Given the description of an element on the screen output the (x, y) to click on. 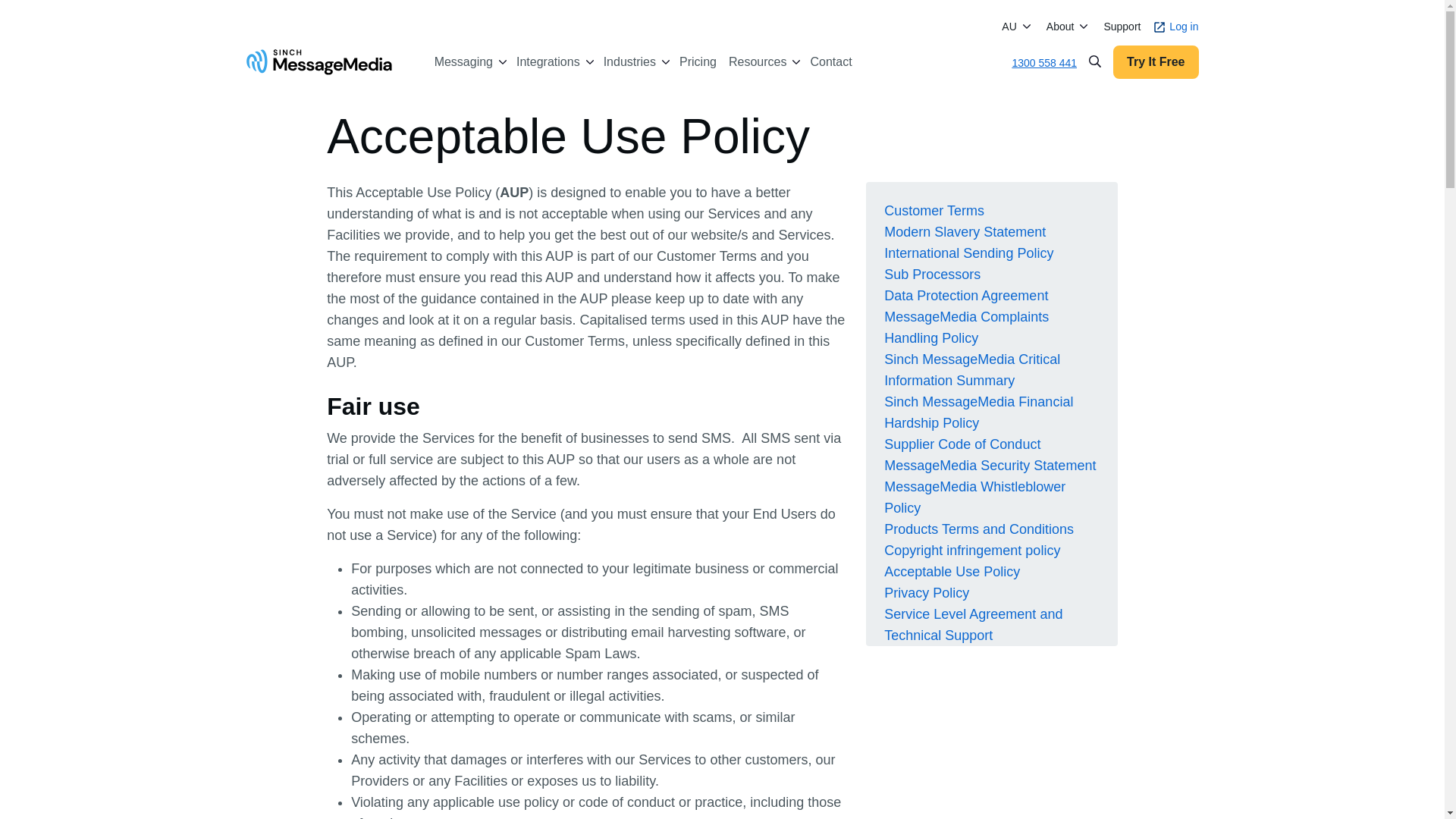
Support (1121, 26)
AU (1008, 26)
Log in (1175, 26)
About (1060, 26)
Messaging (463, 62)
Integrations (548, 62)
